Given the description of an element on the screen output the (x, y) to click on. 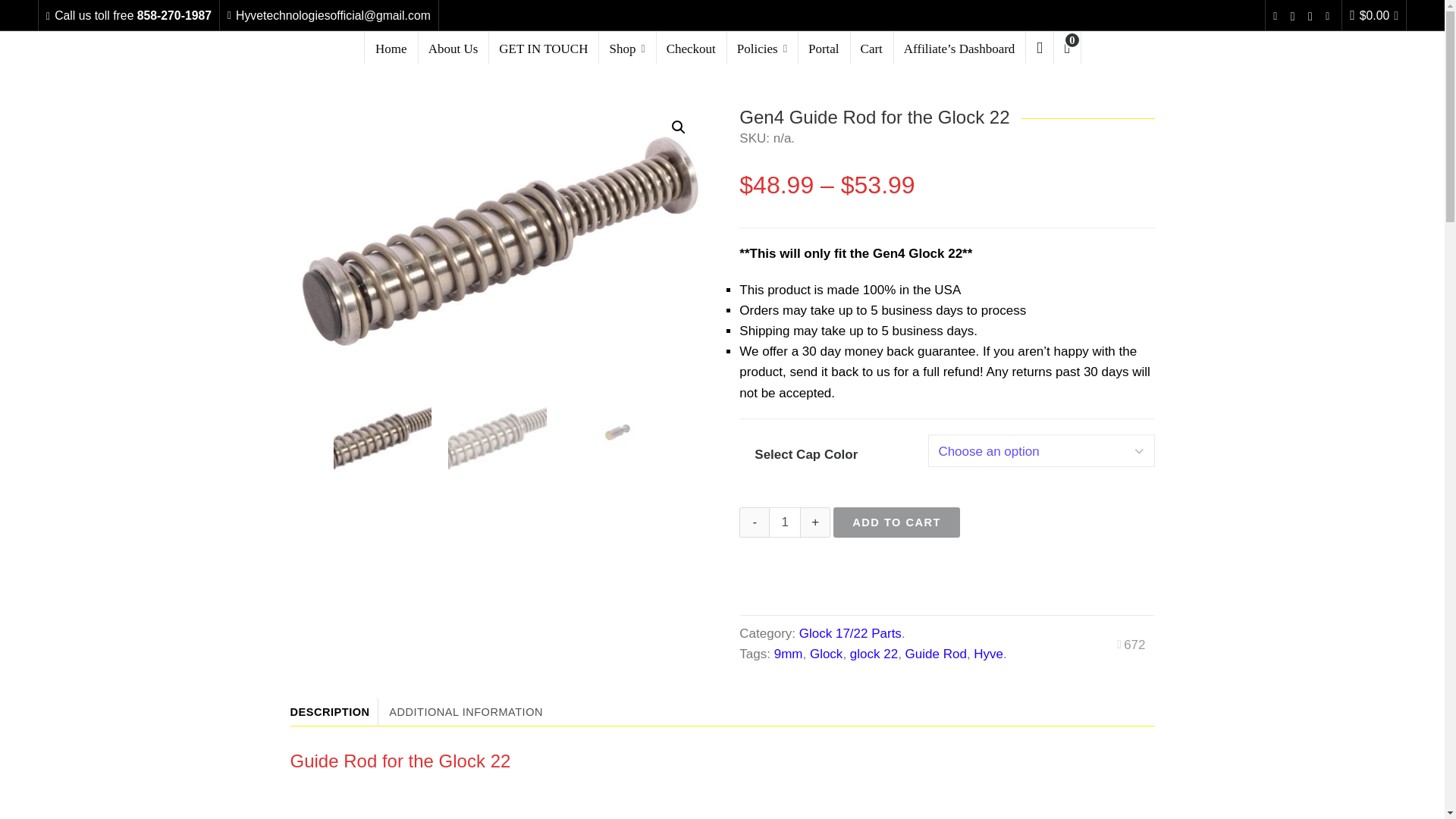
- (754, 521)
PayPal Message 1 (946, 545)
Qty (784, 521)
1 (784, 521)
PayPal (946, 578)
Like this post. Gen4 Guide Rod for the Glock 22 (1130, 644)
